Given the description of an element on the screen output the (x, y) to click on. 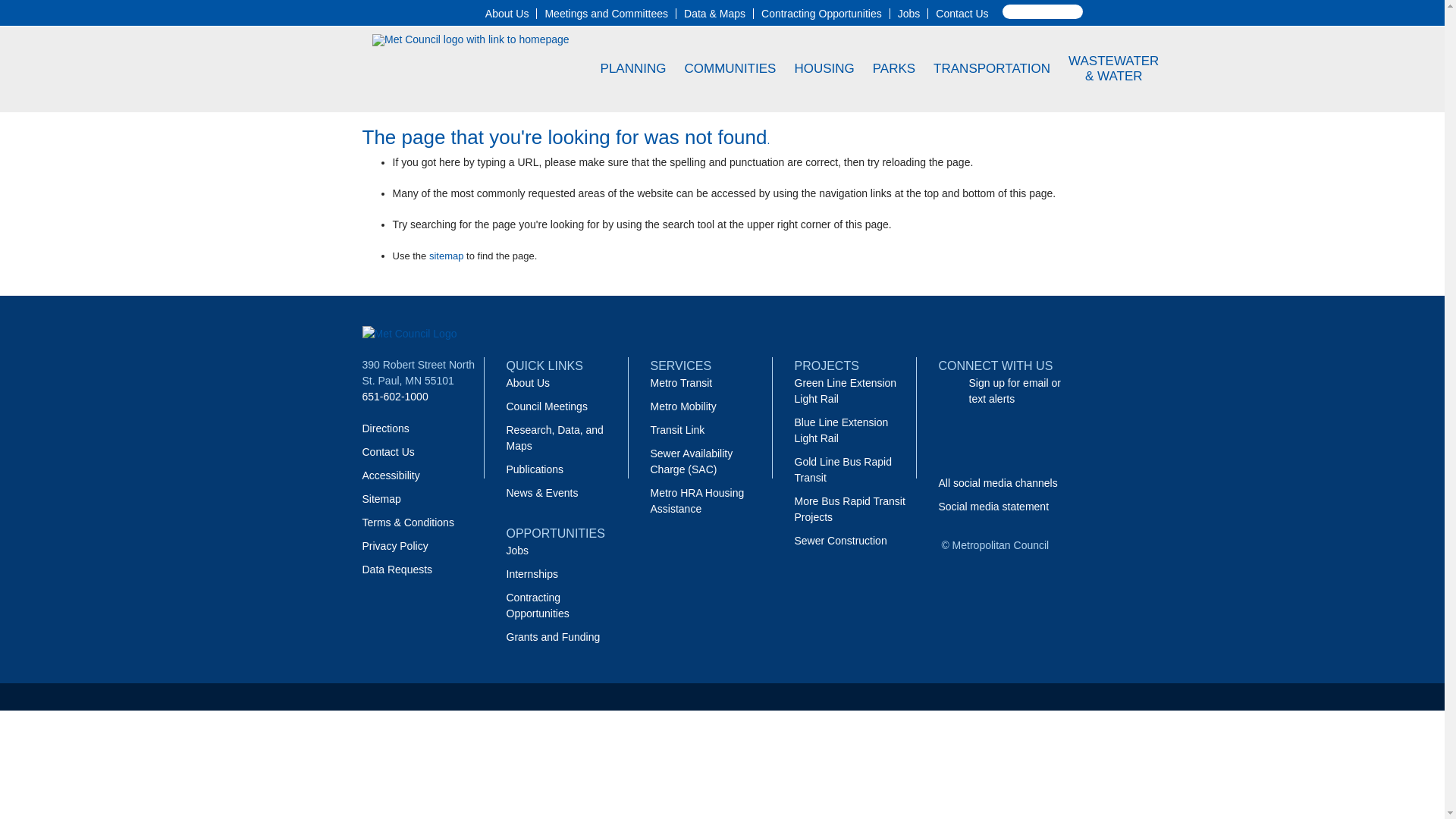
Contracting Opportunities (821, 13)
Jobs (909, 13)
Search (29, 7)
HOUSING (824, 69)
Contact Us (962, 13)
Meetings and Committees (606, 13)
About Us (506, 13)
PLANNING (633, 69)
Search Box (1043, 11)
COMMUNITIES (731, 69)
